Given the description of an element on the screen output the (x, y) to click on. 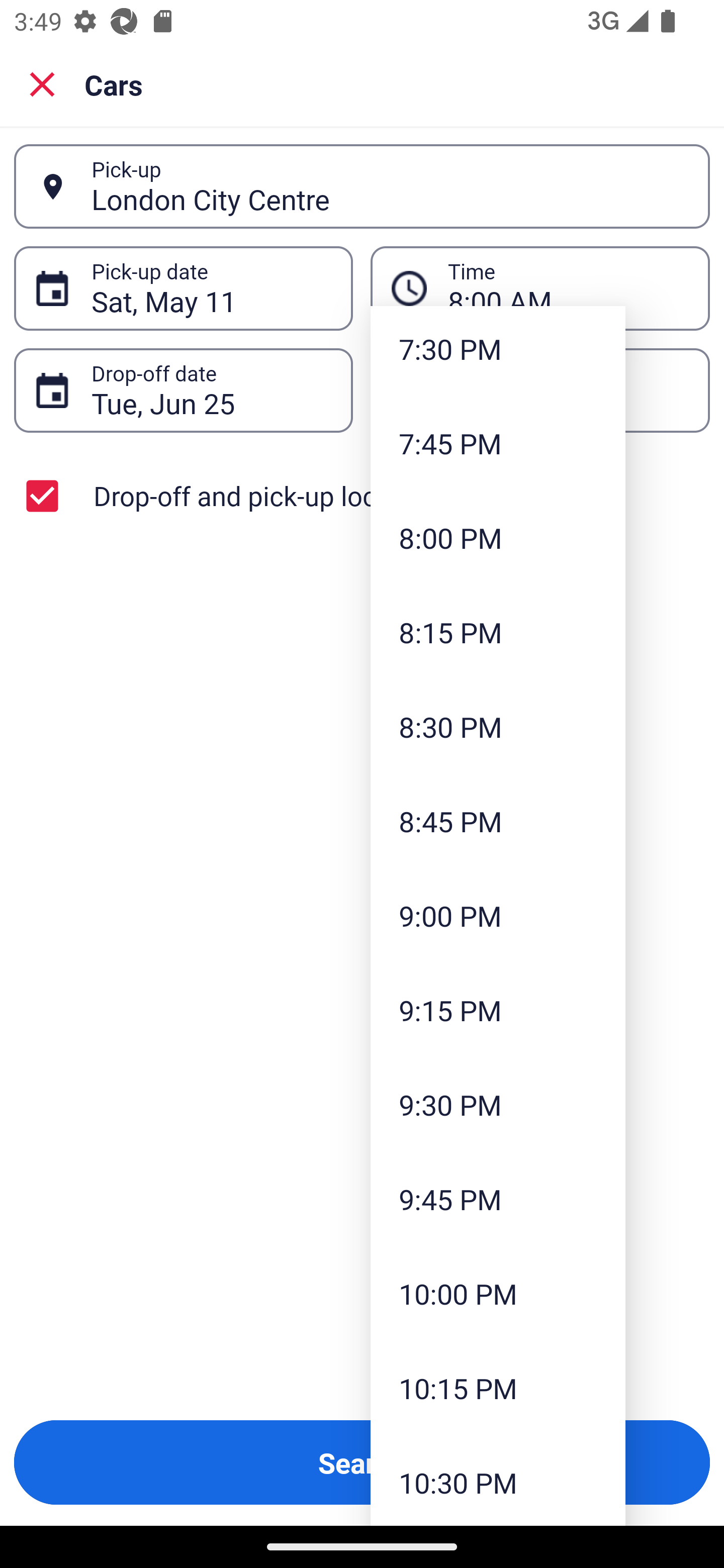
7:30 PM (497, 350)
7:45 PM (497, 443)
8:00 PM (497, 537)
8:15 PM (497, 631)
8:30 PM (497, 726)
8:45 PM (497, 821)
9:00 PM (497, 915)
9:15 PM (497, 1009)
9:30 PM (497, 1104)
9:45 PM (497, 1199)
10:00 PM (497, 1293)
10:15 PM (497, 1387)
10:30 PM (497, 1479)
